Given the description of an element on the screen output the (x, y) to click on. 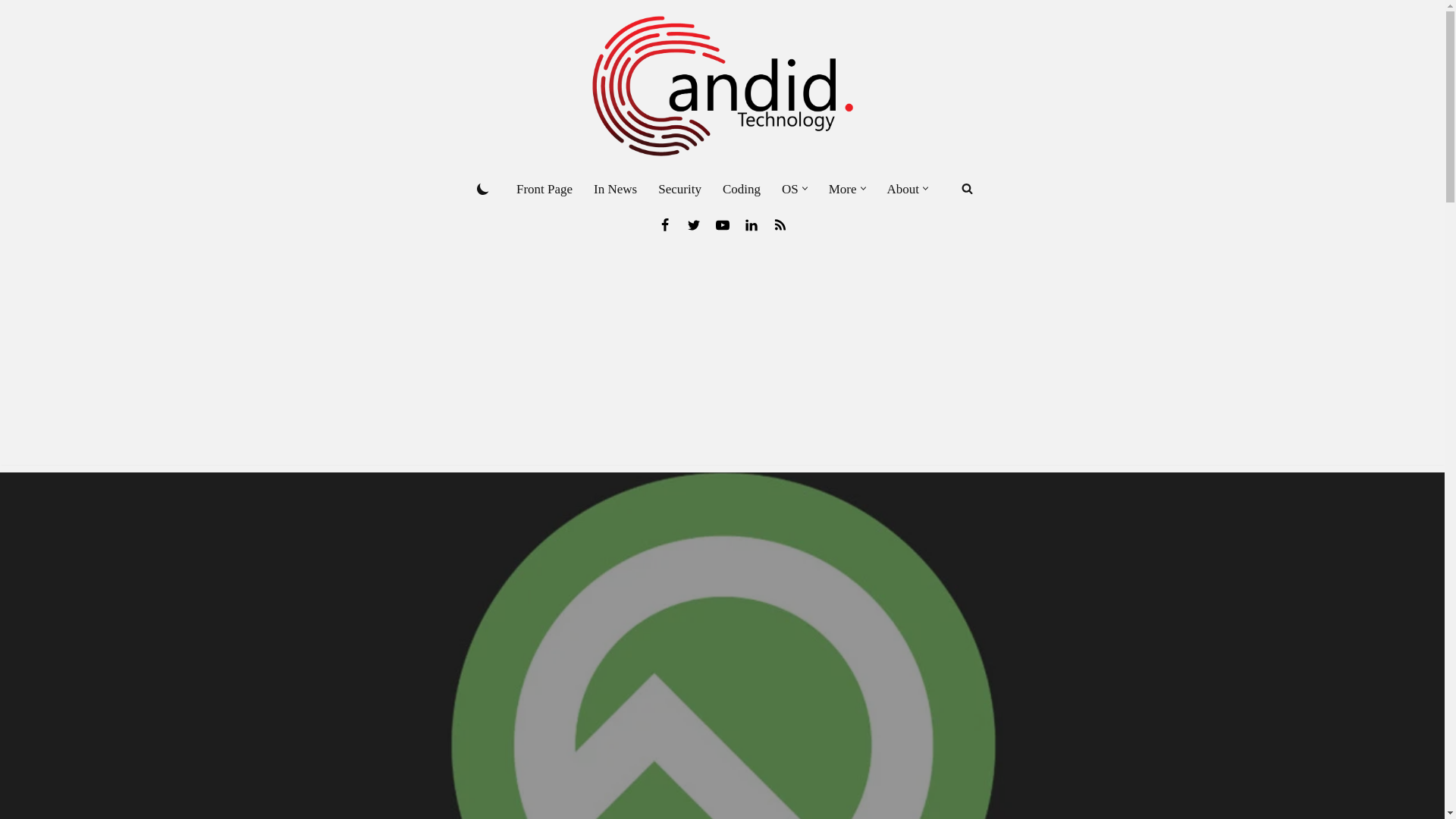
In News (615, 188)
Youtube (721, 224)
News (779, 224)
About (903, 188)
Skip to content (11, 31)
Security (679, 188)
Front Page (544, 188)
Facebook (664, 224)
Twitter (692, 224)
More (842, 188)
Coding (741, 188)
Linkedin (750, 224)
